Given the description of an element on the screen output the (x, y) to click on. 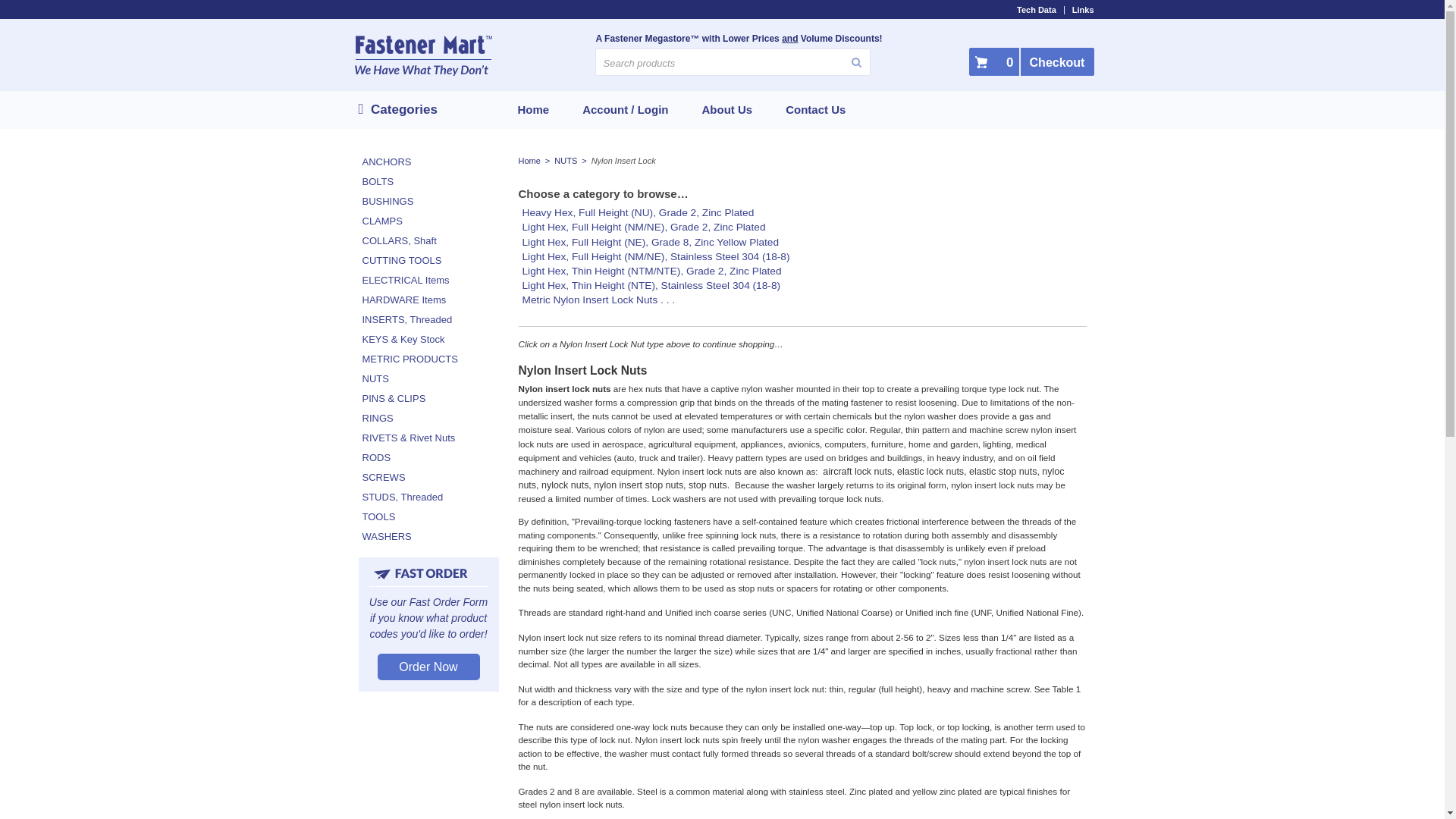
Contact Us (814, 109)
Links (1079, 9)
Tech Data (1033, 9)
0 (993, 61)
NUTS (565, 160)
Shop Now (801, 270)
CLAMPS (427, 220)
CUTTING TOOLS (427, 260)
Search (838, 63)
Shop Now (801, 299)
